Given the description of an element on the screen output the (x, y) to click on. 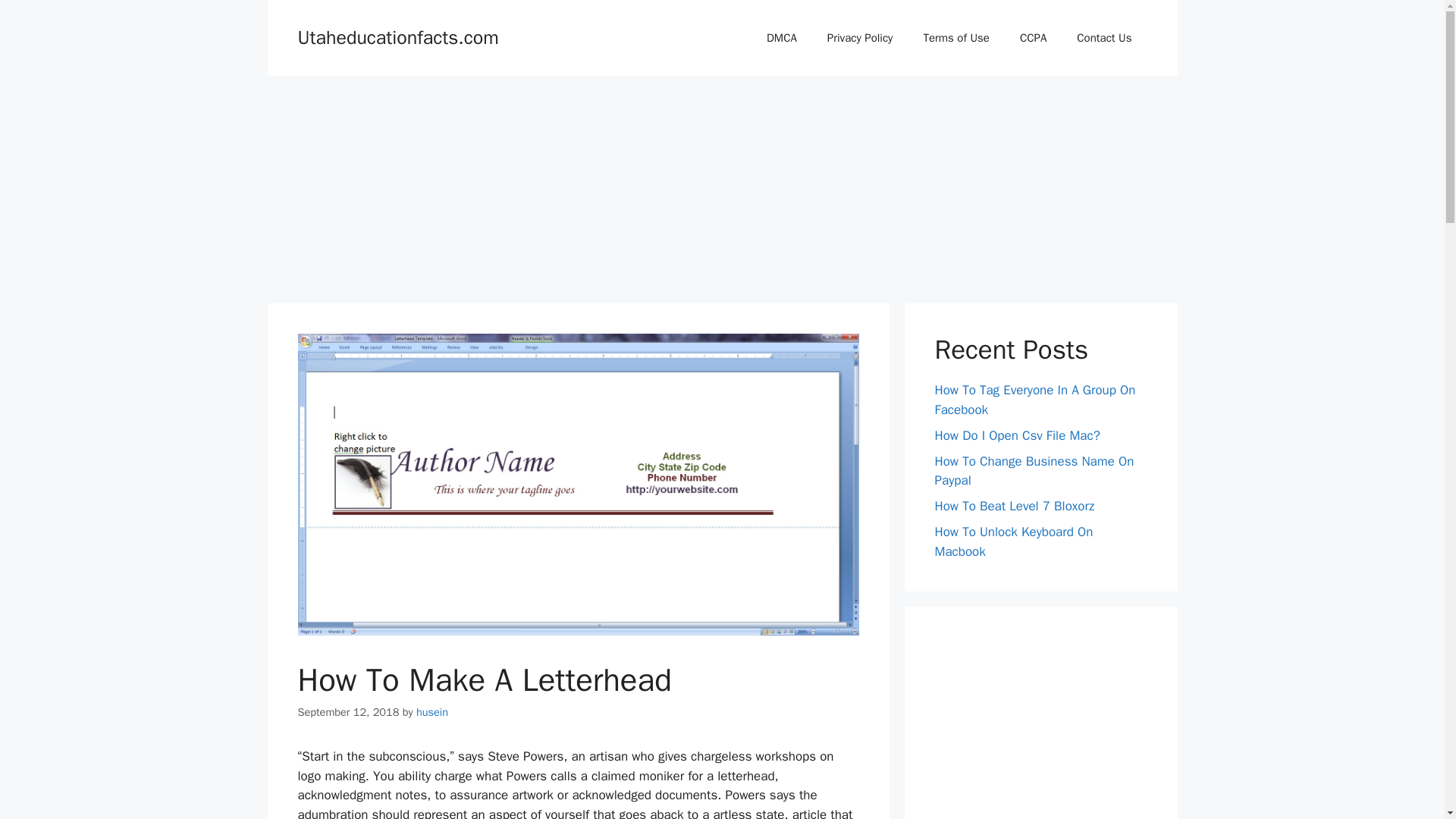
How To Unlock Keyboard On Macbook (1013, 541)
husein (432, 712)
How To Change Business Name On Paypal (1034, 470)
View all posts by husein (432, 712)
DMCA (781, 37)
Terms of Use (955, 37)
How To Tag Everyone In A Group On Facebook (1034, 399)
Contact Us (1104, 37)
How Do I Open Csv File Mac? (1016, 435)
Privacy Policy (860, 37)
